Given the description of an element on the screen output the (x, y) to click on. 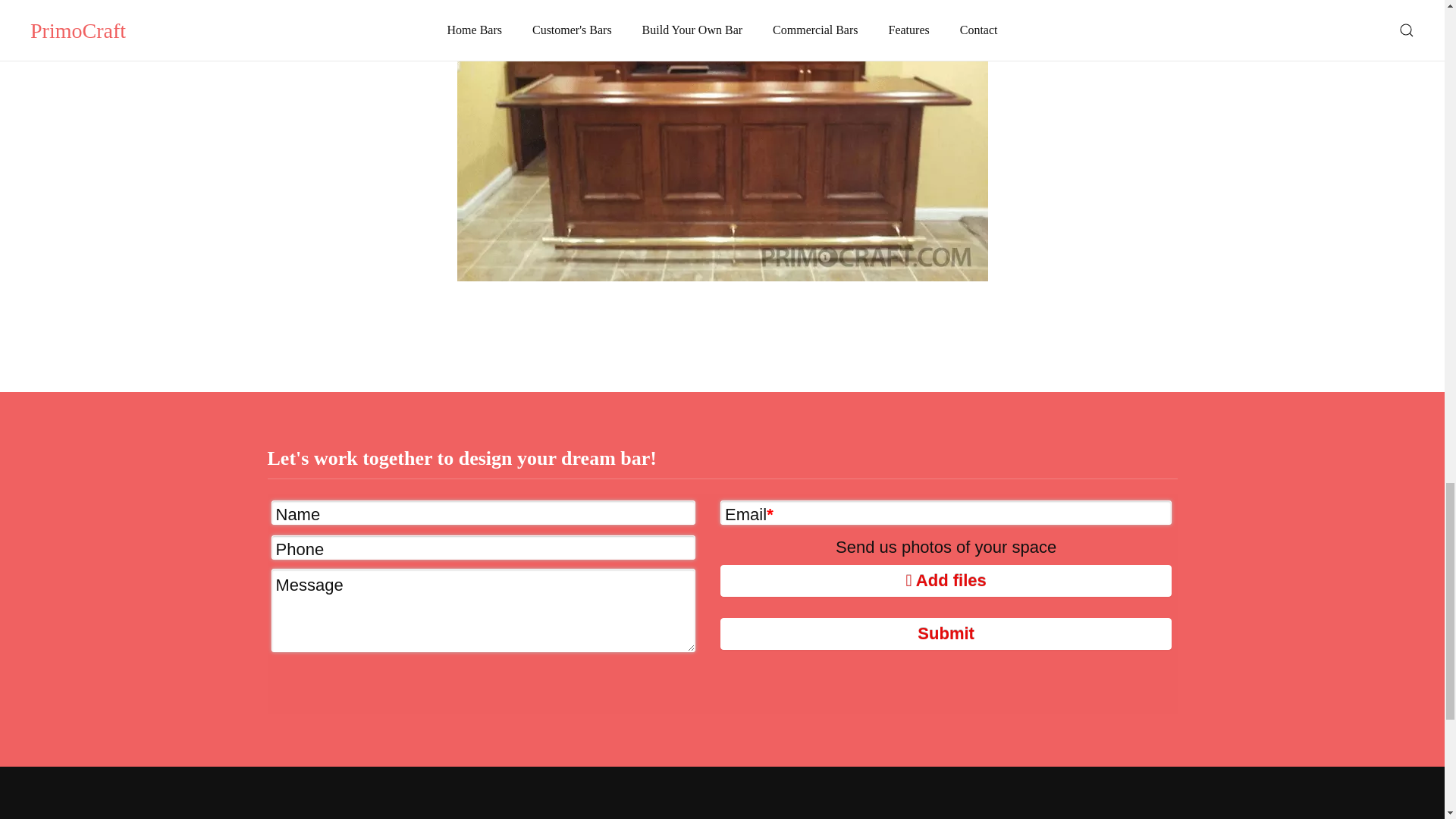
Submit (946, 634)
